Given the description of an element on the screen output the (x, y) to click on. 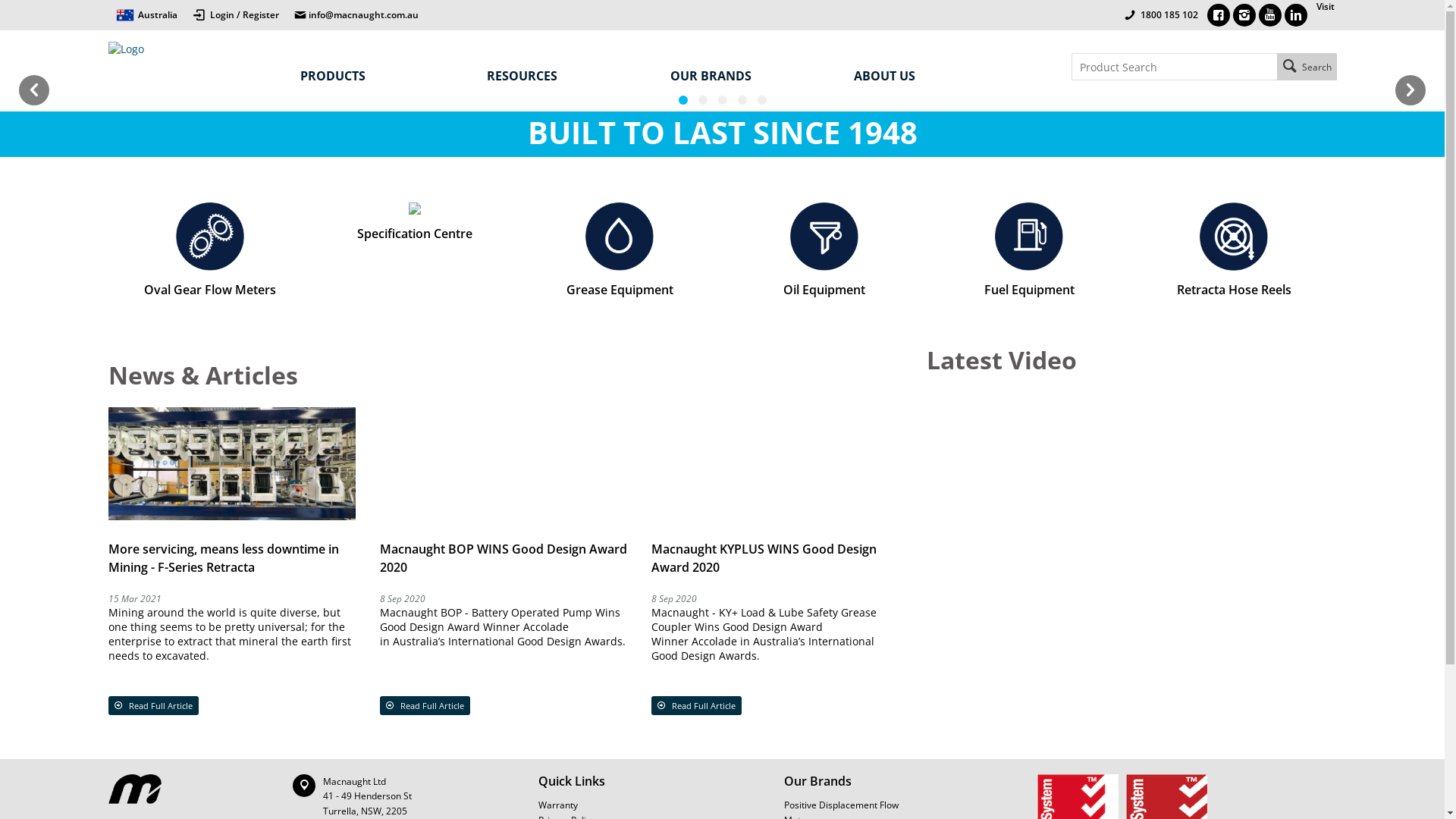
Retracta Hose Reels Element type: text (1233, 250)
Read Full Article Element type: text (696, 705)
1800 185 102 Element type: text (1167, 14)
YouTube Element type: hover (1269, 14)
info@macnaught.com.au Element type: text (356, 15)
Grease Equipment Element type: text (619, 250)
Facebook Element type: hover (1218, 14)
Read Full Article Element type: text (424, 705)
Oil Equipment Element type: text (823, 250)
ABOUT US Element type: text (930, 75)
PRODUCTS Element type: text (380, 75)
Read Full Article Element type: text (152, 705)
RESOURCES Element type: text (563, 75)
Fuel Equipment Element type: text (1028, 250)
Australia Element type: text (145, 15)
Login / Register Element type: text (235, 12)
Search Element type: text (1306, 66)
Oval Gear Flow Meters Element type: text (209, 250)
Specification Centre Element type: text (414, 222)
Warranty Element type: text (661, 804)
Macnaught KYPLUS WINS Good Design Award 2020 Element type: text (763, 557)
Instagram Element type: hover (1244, 14)
Visit Element type: text (1322, 15)
LinkedIn Element type: hover (1295, 14)
Macnaught BOP WINS Good Design Award 2020 Element type: text (503, 557)
OUR BRANDS Element type: text (746, 75)
